Given the description of an element on the screen output the (x, y) to click on. 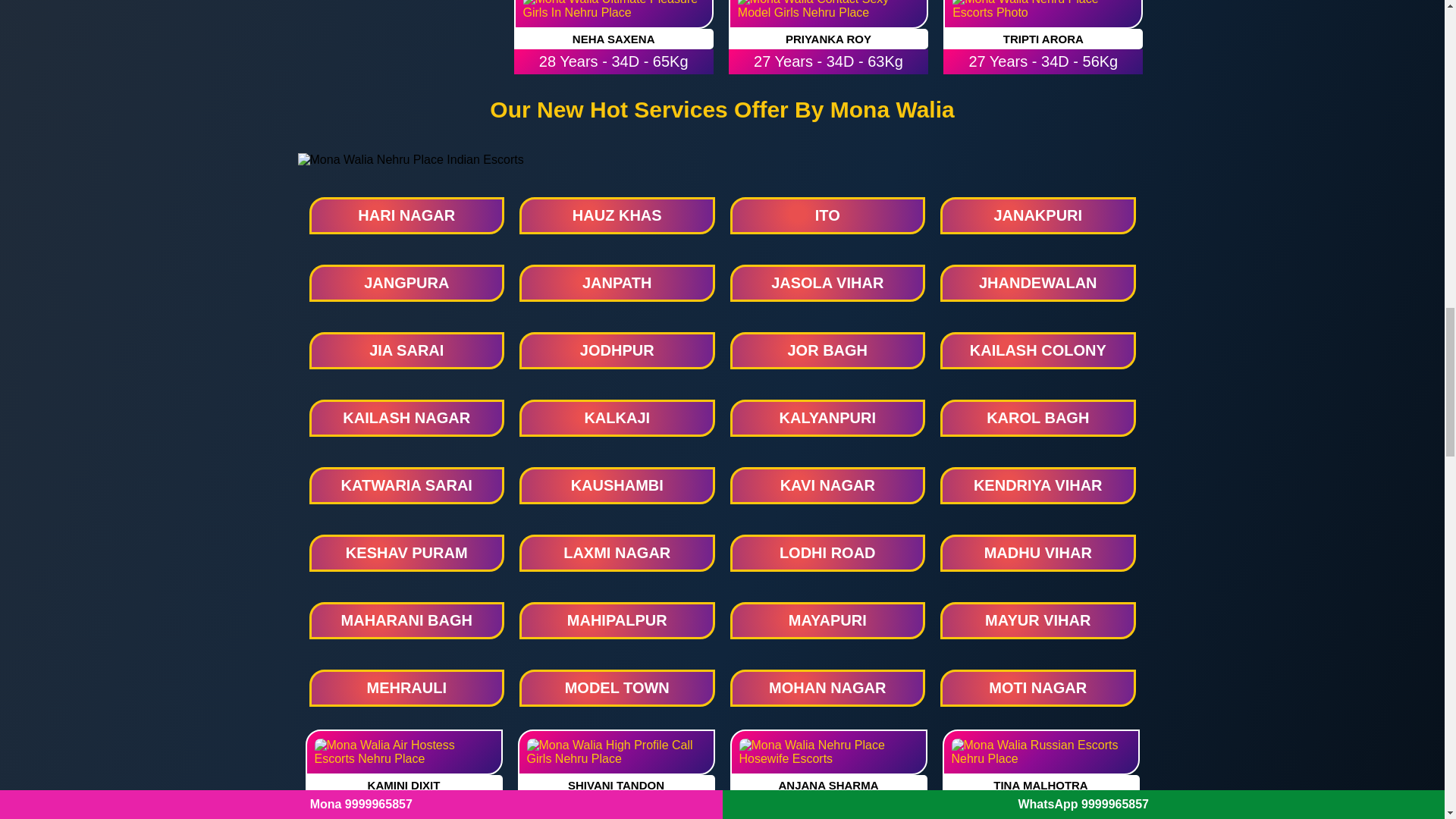
Contact Sexy Model Girls Nehru Place (828, 14)
Ultimate Pleasure Girls In Nehru Place (613, 14)
Air Hostess Escorts Nehru Place (403, 751)
Nehru Place Escorts Photo (1042, 14)
High Profile Call Girls Nehru Place (615, 751)
Nehru Place Indian Escorts (409, 160)
Nehru Place Hosewife Escorts (827, 751)
Russian Escorts Nehru Place (1040, 751)
